Given the description of an element on the screen output the (x, y) to click on. 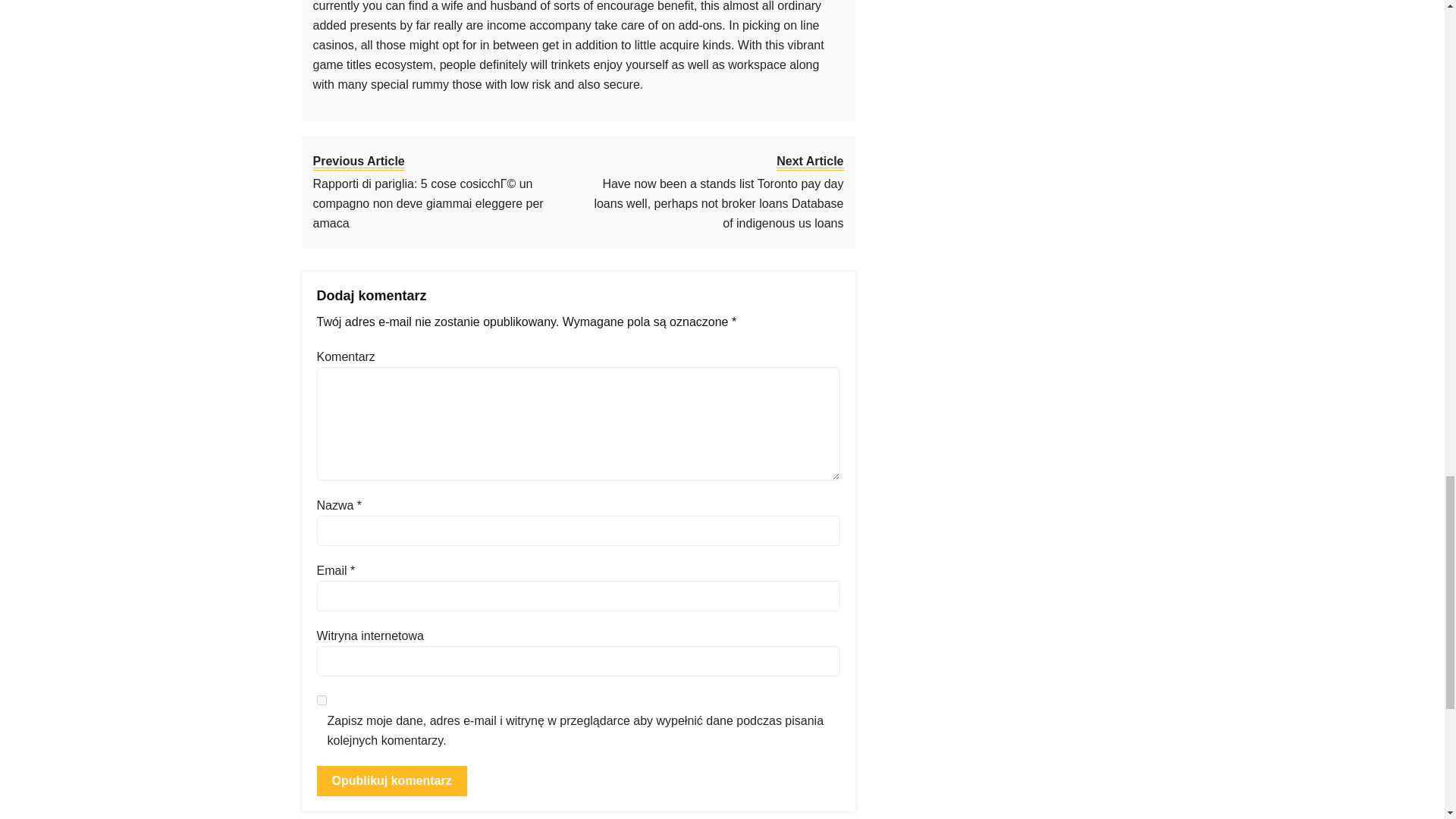
yes (321, 700)
Opublikuj komentarz (392, 780)
Opublikuj komentarz (392, 780)
